Given the description of an element on the screen output the (x, y) to click on. 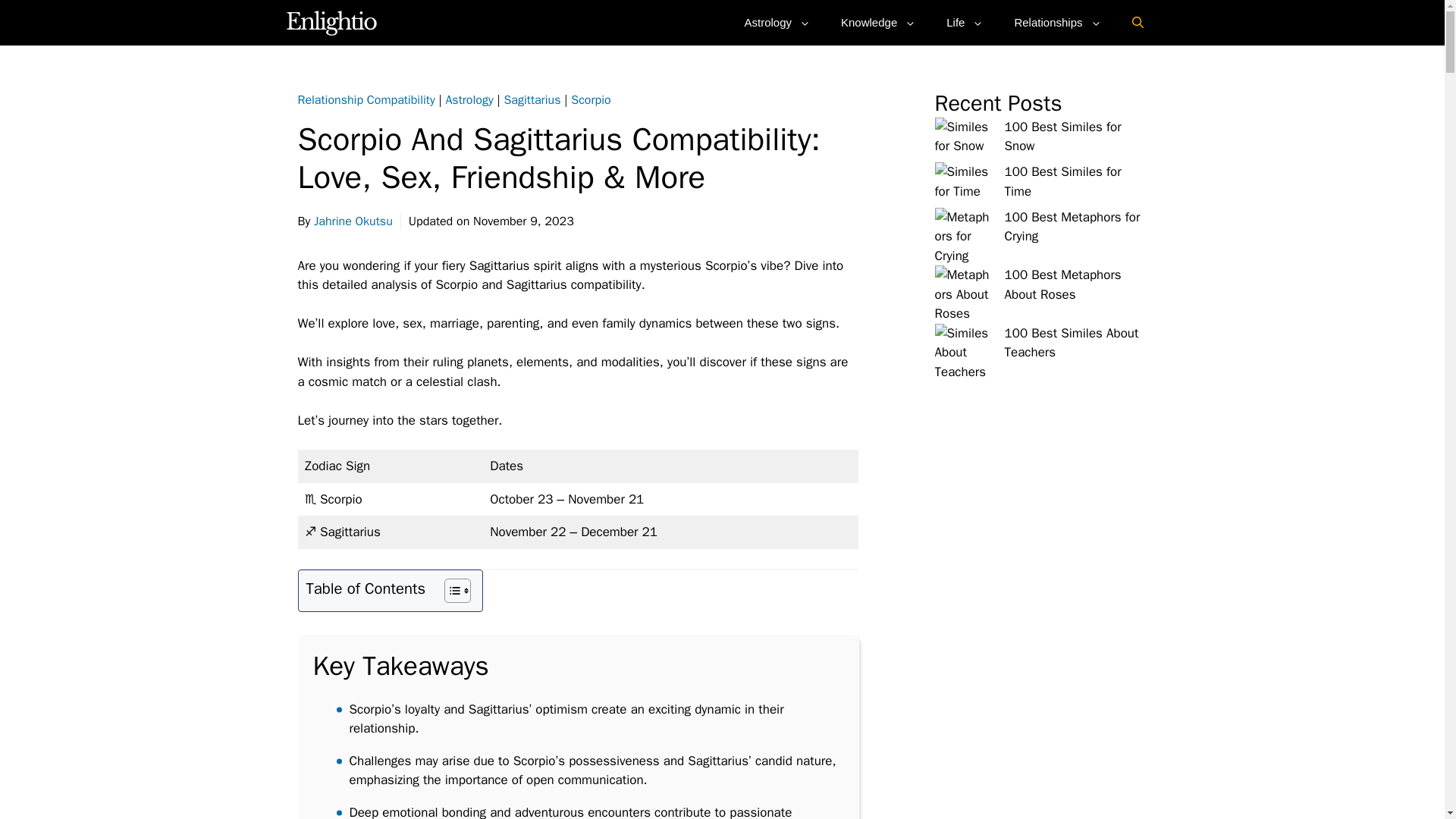
Jahrine Okutsu (353, 221)
Relationships (1057, 22)
Scorpio (590, 99)
Astrology (469, 99)
Astrology (777, 22)
Enlightio (331, 22)
Relationship Compatibility (365, 99)
Sagittarius (531, 99)
Knowledge (878, 22)
Life (964, 22)
